Given the description of an element on the screen output the (x, y) to click on. 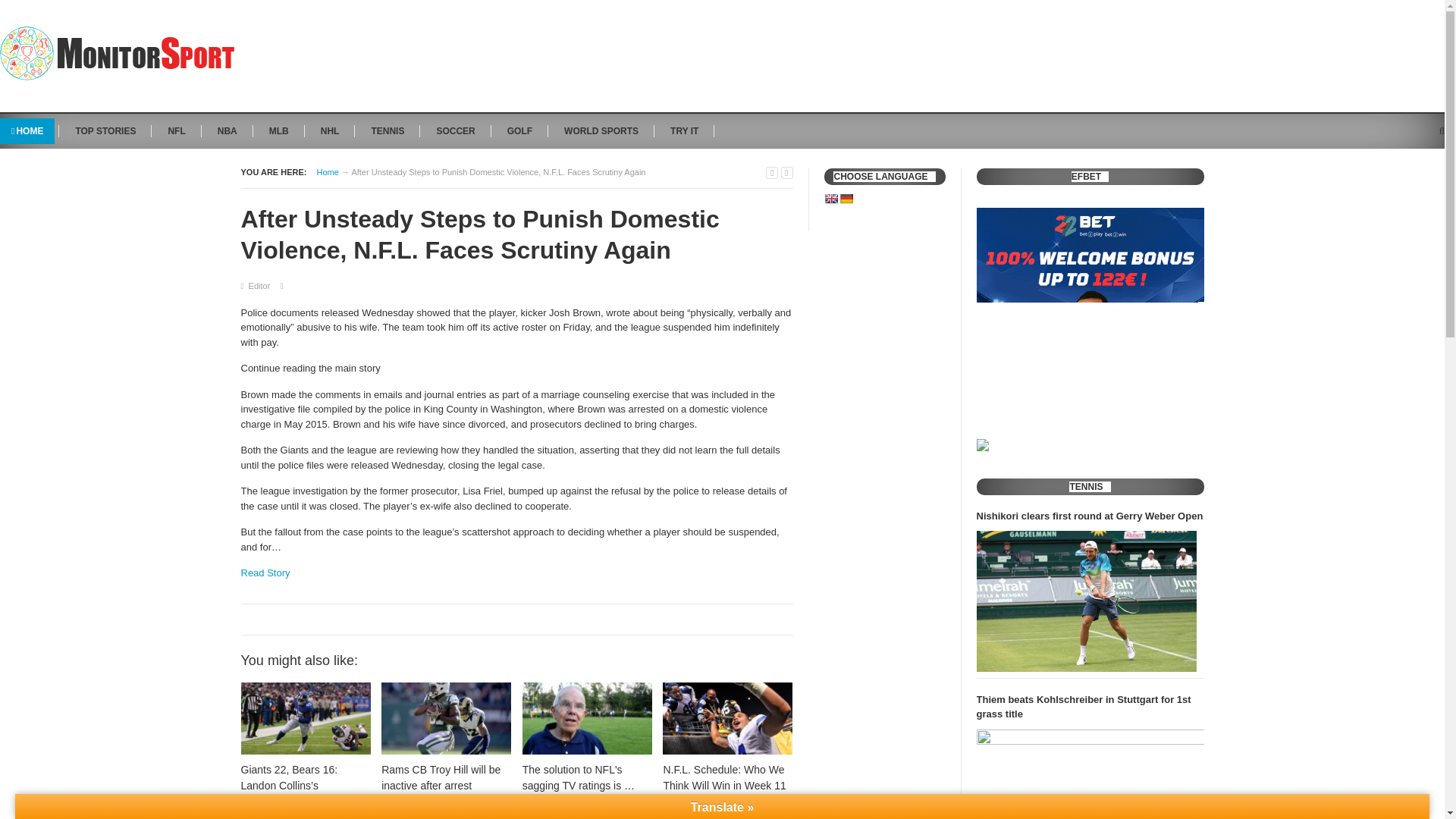
English (830, 198)
SOCCER (455, 130)
MLB (278, 130)
NBA (227, 130)
N.F.L. Schedule: Who We Think Will Win in Week 11 (727, 738)
Nishikori clears first round at Gerry Weber Open (1086, 600)
Thiem beats Kohlschreiber in Stuttgart for 1st grass title (1090, 706)
NHL (329, 130)
Read Story (265, 572)
Editor (259, 285)
